Given the description of an element on the screen output the (x, y) to click on. 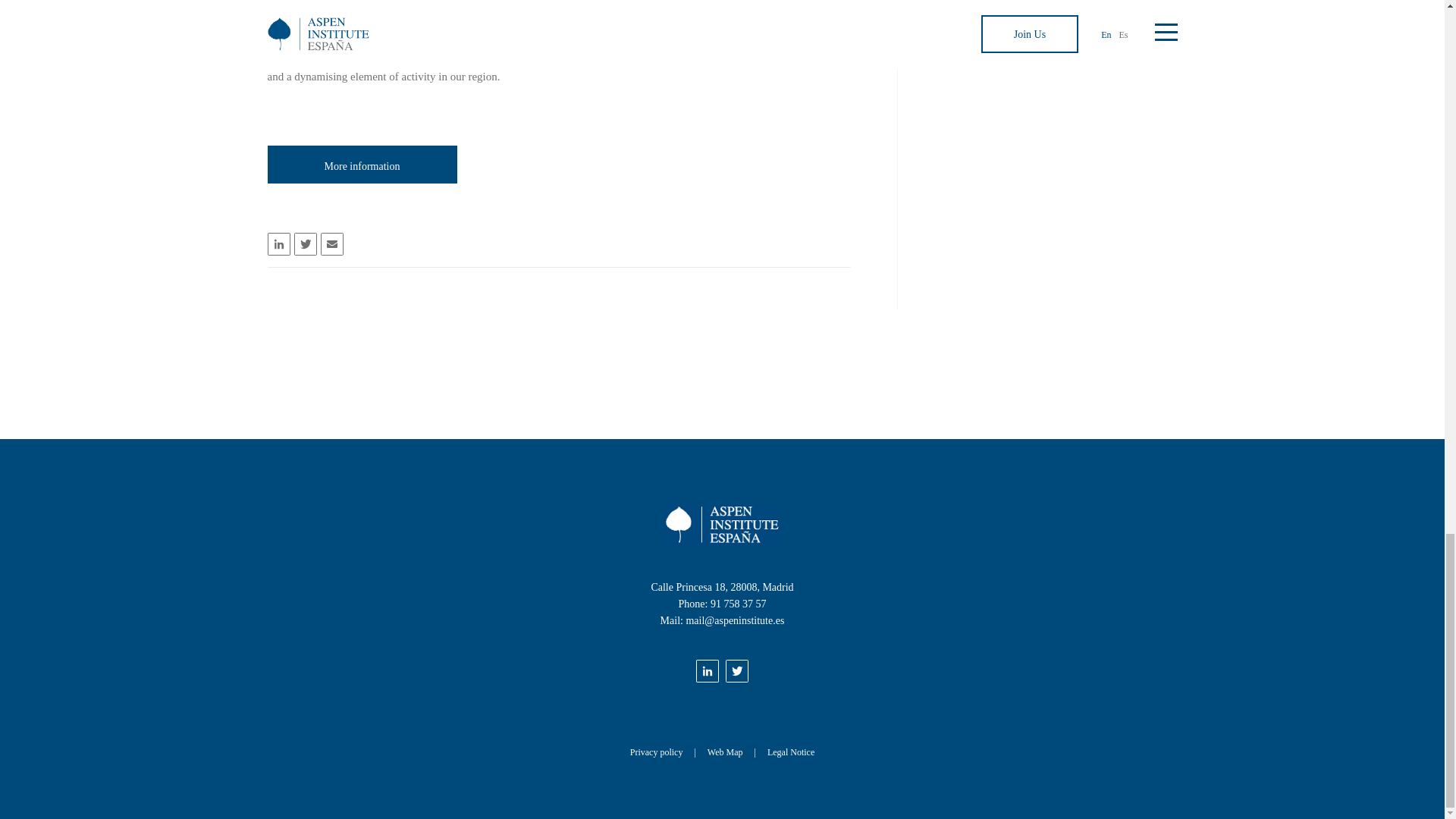
More information (361, 164)
91 758 37 57 (738, 603)
Legal Notice (790, 751)
Privacy policy (668, 751)
Web Map (737, 751)
